Given the description of an element on the screen output the (x, y) to click on. 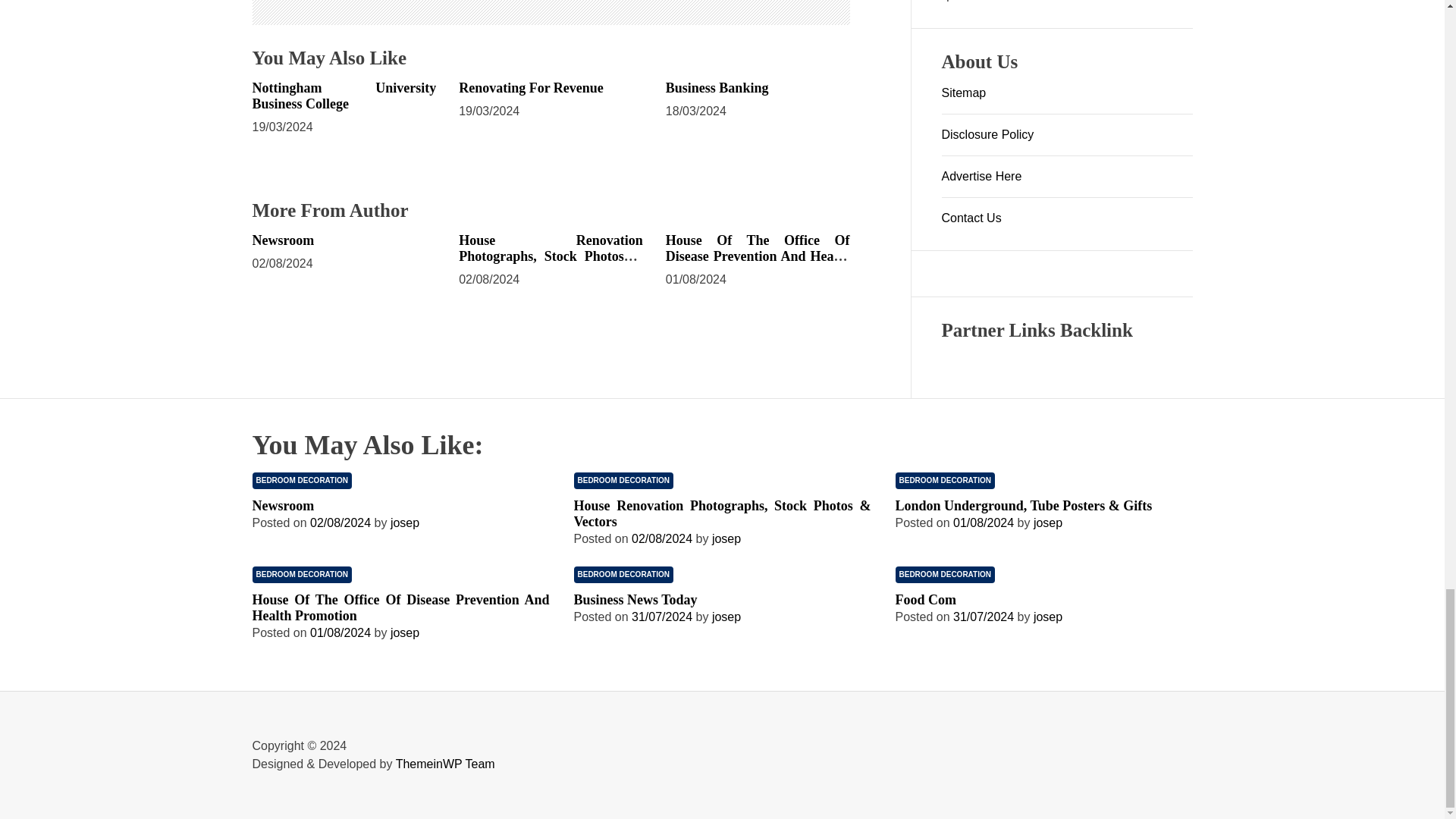
Business Banking (716, 87)
Newsroom (282, 240)
Renovating For Revenue (531, 87)
Nottingham University Business College (343, 95)
